Given the description of an element on the screen output the (x, y) to click on. 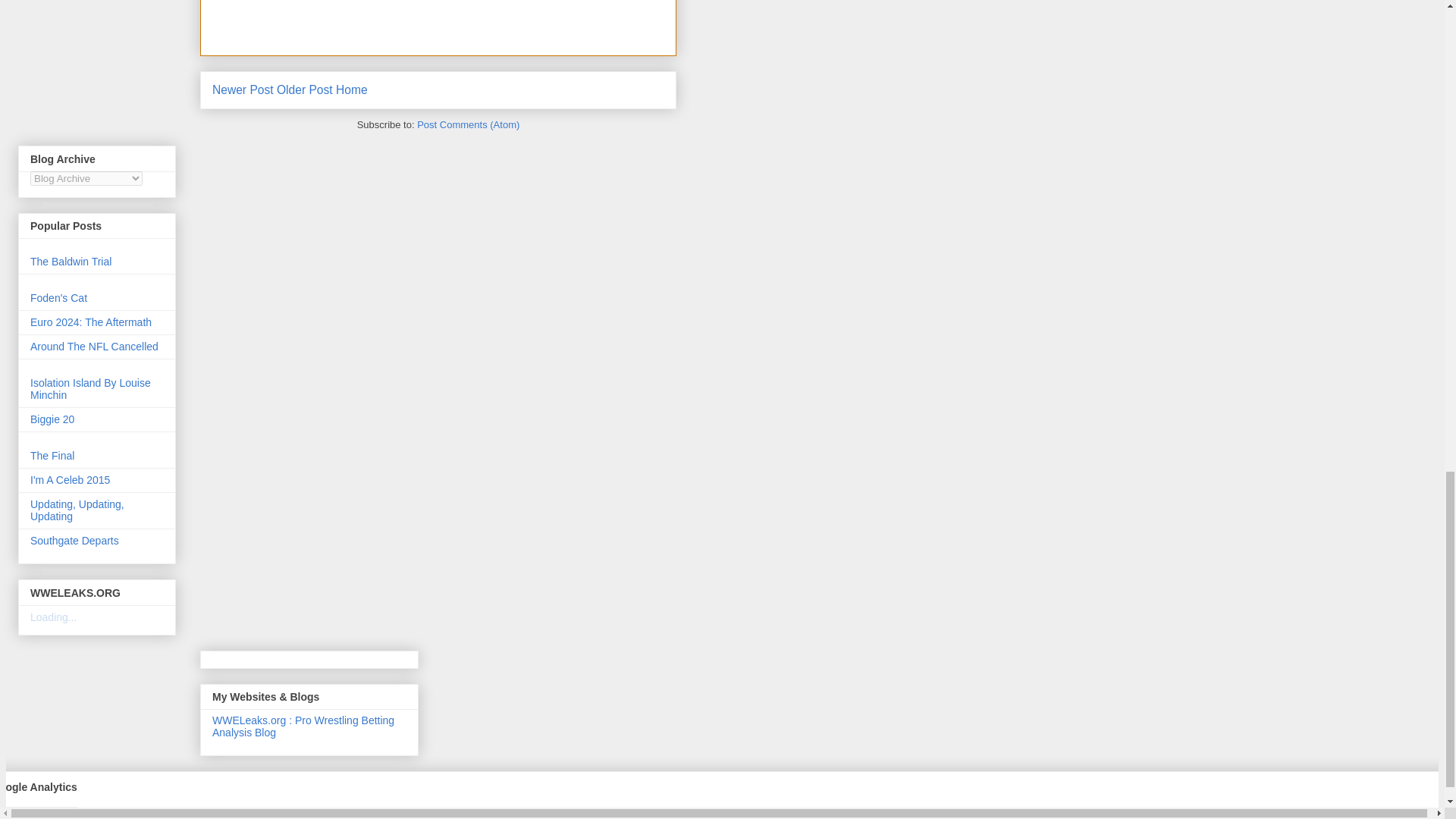
Older Post (304, 89)
Newer Post (242, 89)
Newer Post (242, 89)
The Baldwin Trial (71, 261)
Around The NFL Cancelled (94, 346)
WWELeaks.org : Pro Wrestling Betting Analysis Blog (303, 726)
Updating, Updating, Updating (76, 509)
Southgate Departs (74, 540)
I'm A Celeb 2015 (70, 480)
Loading... (53, 616)
Foden's Cat (58, 297)
Older Post (304, 89)
Home (352, 89)
The Final (52, 455)
Euro 2024: The Aftermath (90, 322)
